Given the description of an element on the screen output the (x, y) to click on. 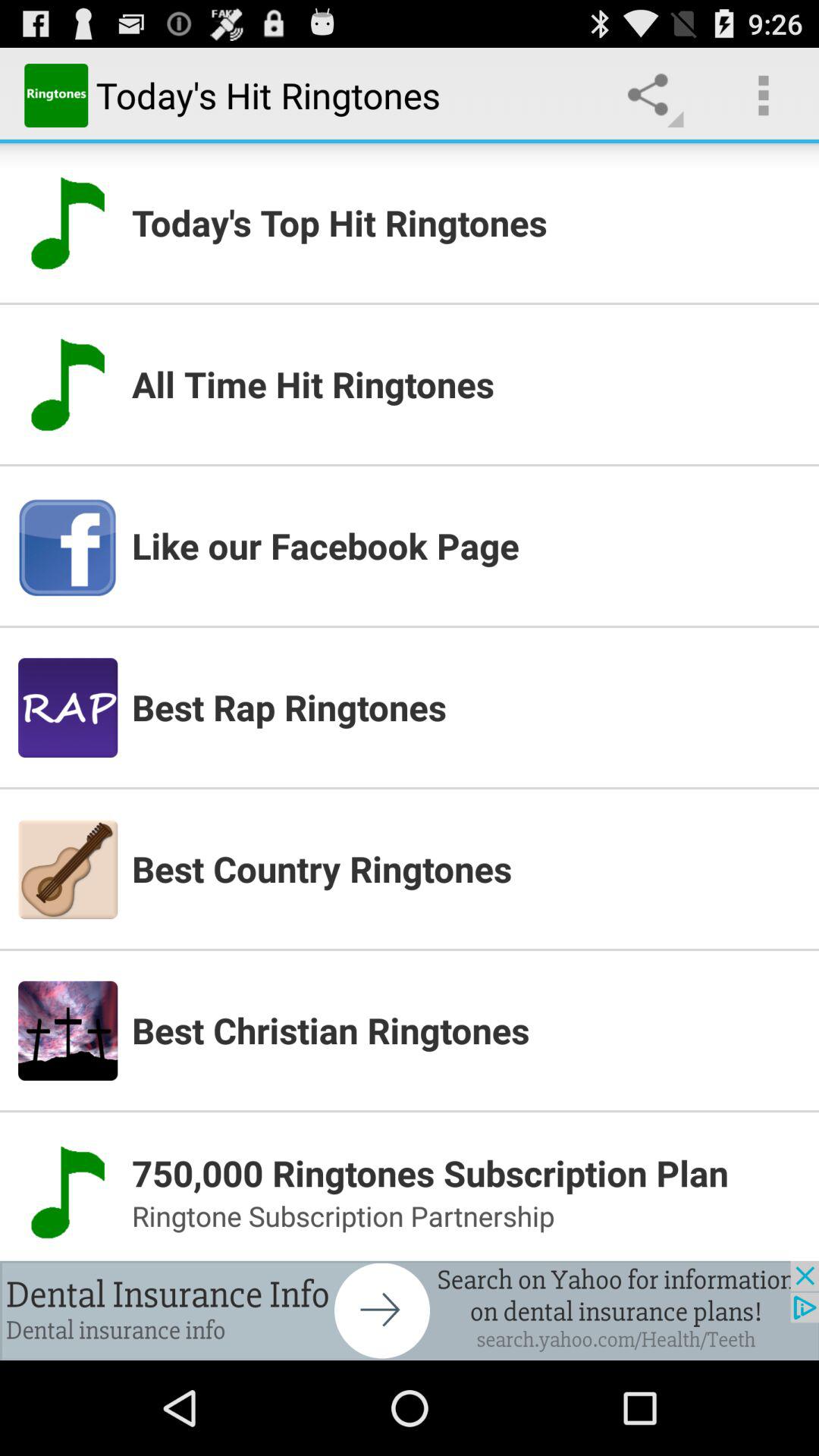
bring up advertisement (409, 1310)
